Given the description of an element on the screen output the (x, y) to click on. 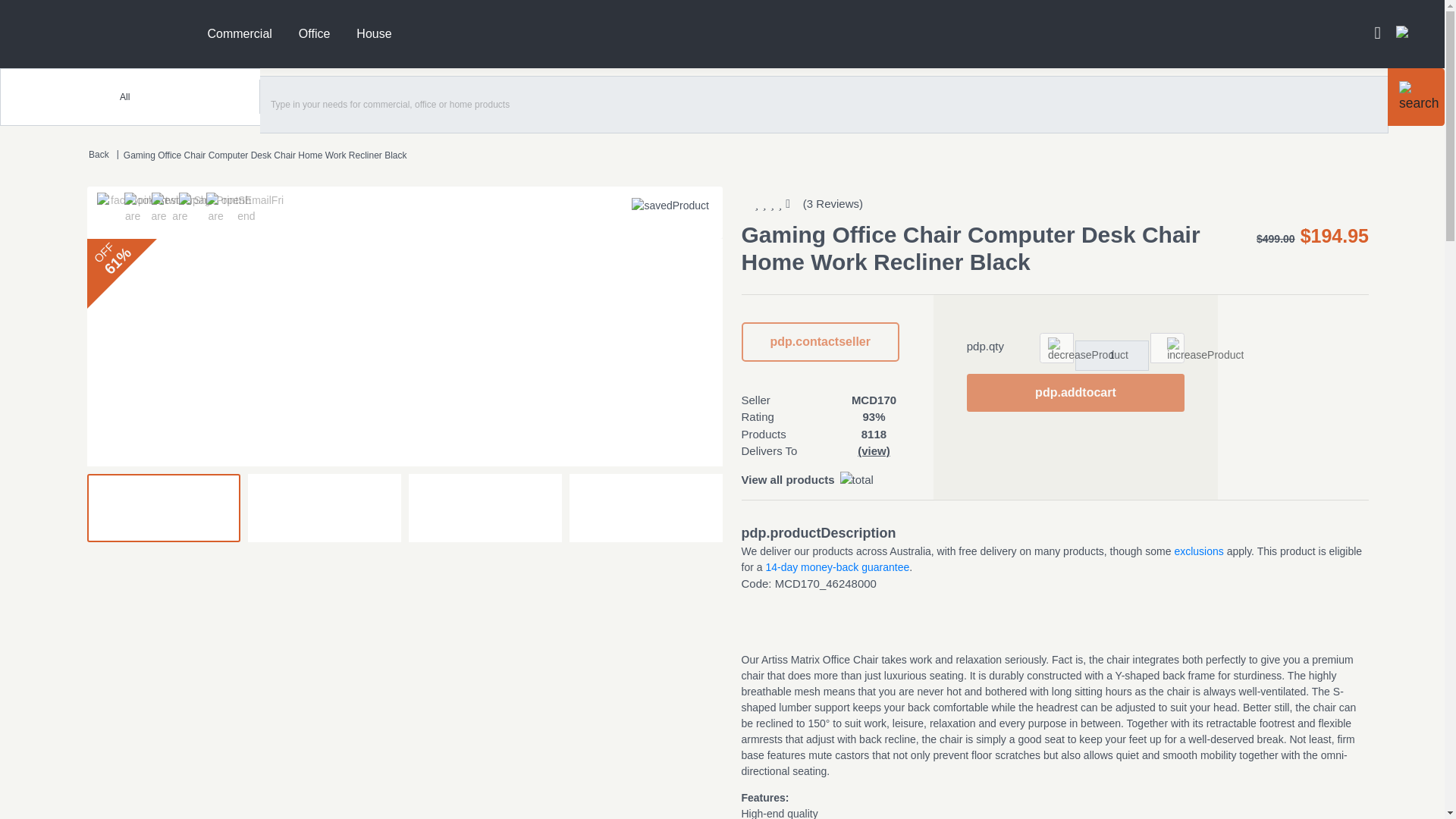
pdp.addtocart (1075, 392)
pdp.contactseller (820, 341)
pdp.addtocart (1075, 392)
Back (98, 154)
1 (1111, 355)
sawce (90, 33)
View all products (787, 479)
